Given the description of an element on the screen output the (x, y) to click on. 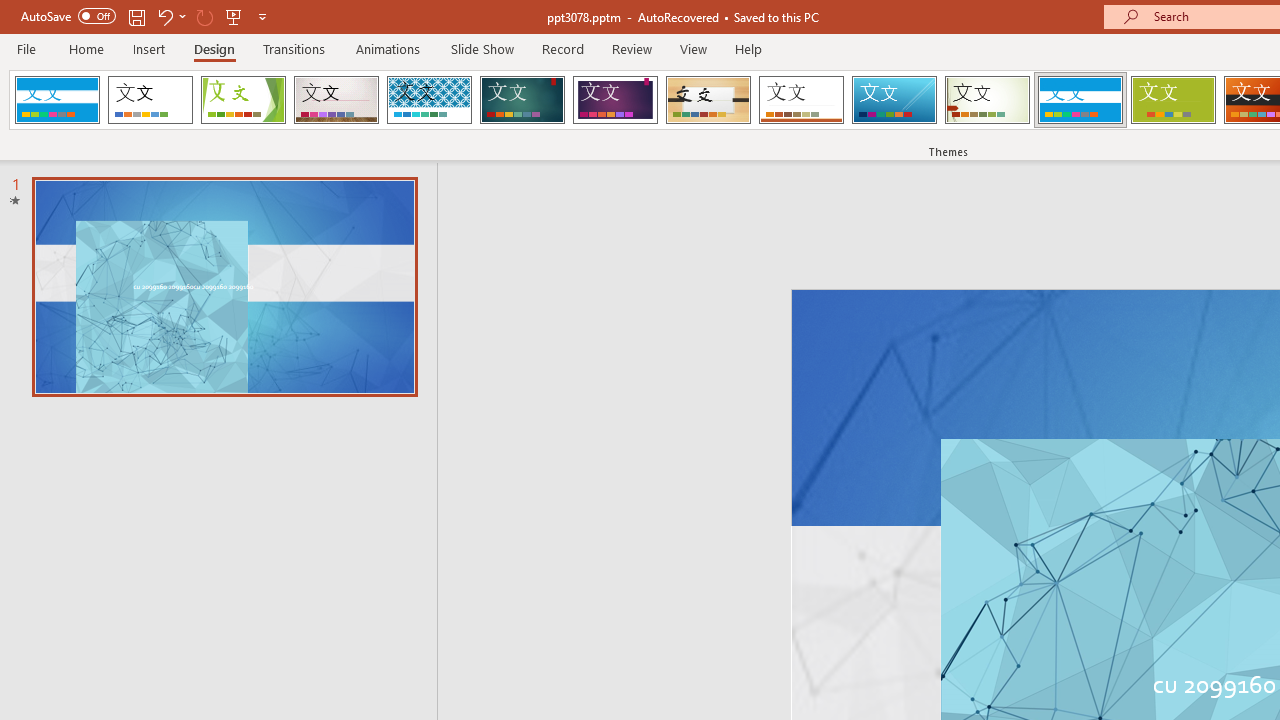
Facet (243, 100)
